Given the description of an element on the screen output the (x, y) to click on. 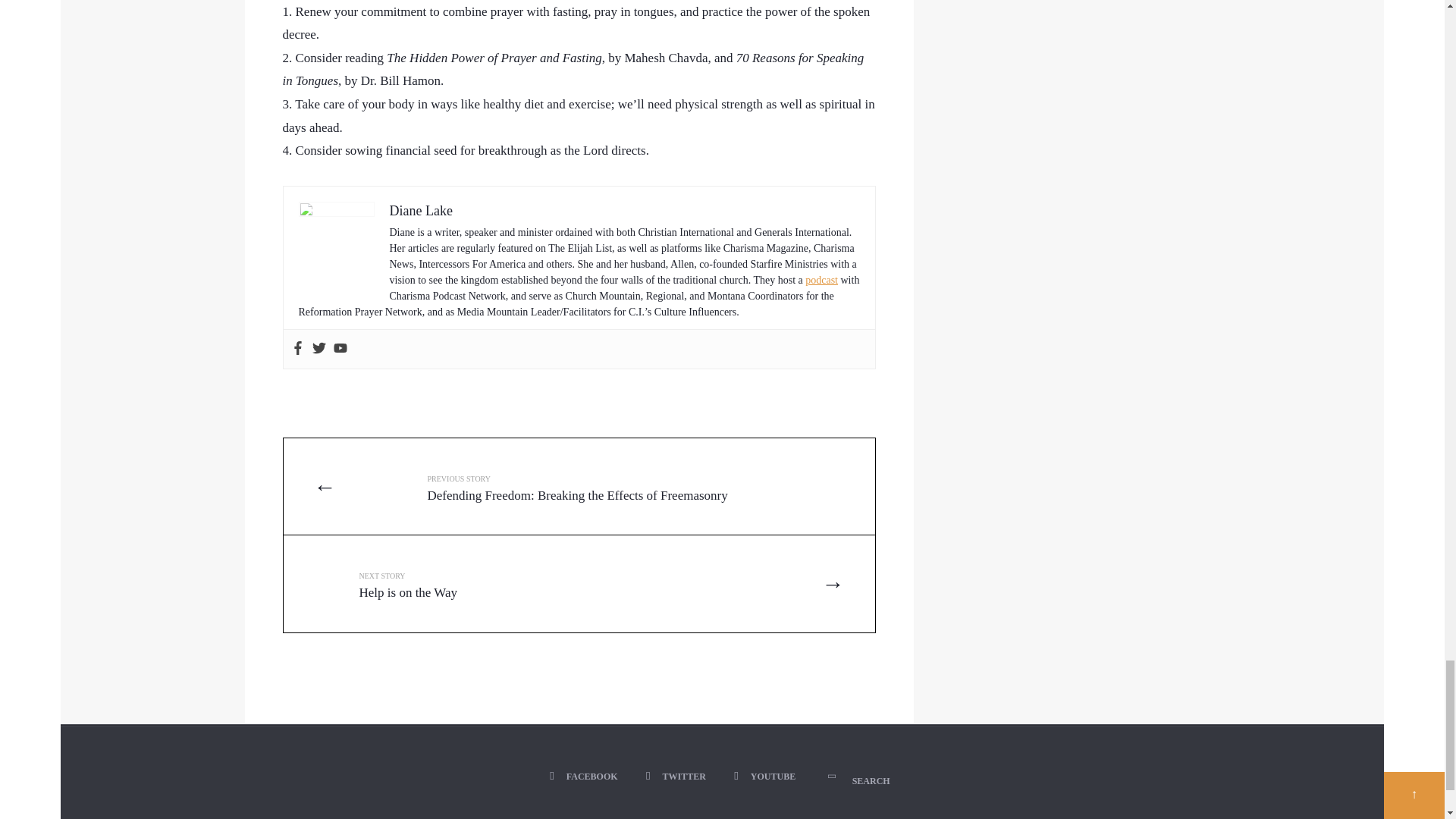
Diane Lake (421, 210)
YouTube (767, 776)
Facebook (584, 776)
Twitter (678, 776)
podcast (510, 583)
